Given the description of an element on the screen output the (x, y) to click on. 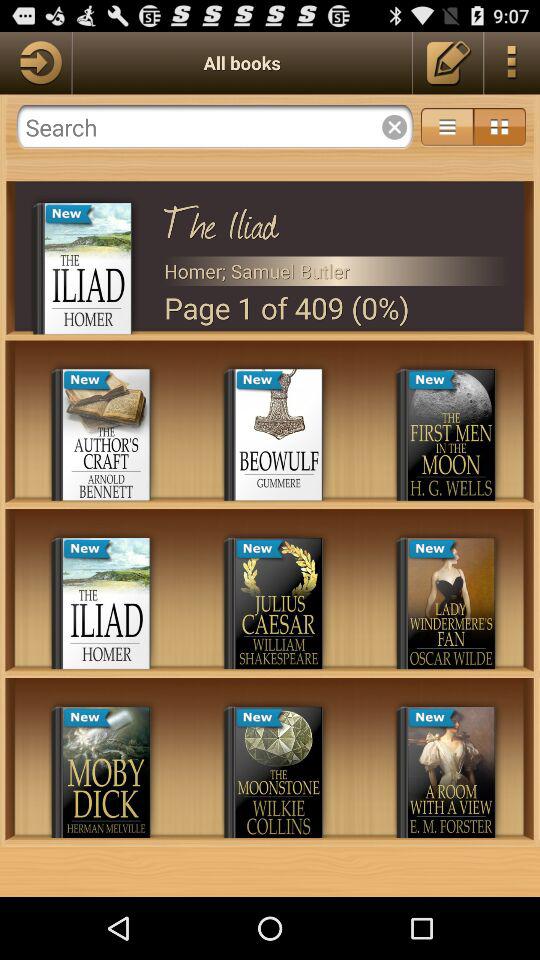
turn off the item above the homer; samuel butler icon (336, 219)
